Given the description of an element on the screen output the (x, y) to click on. 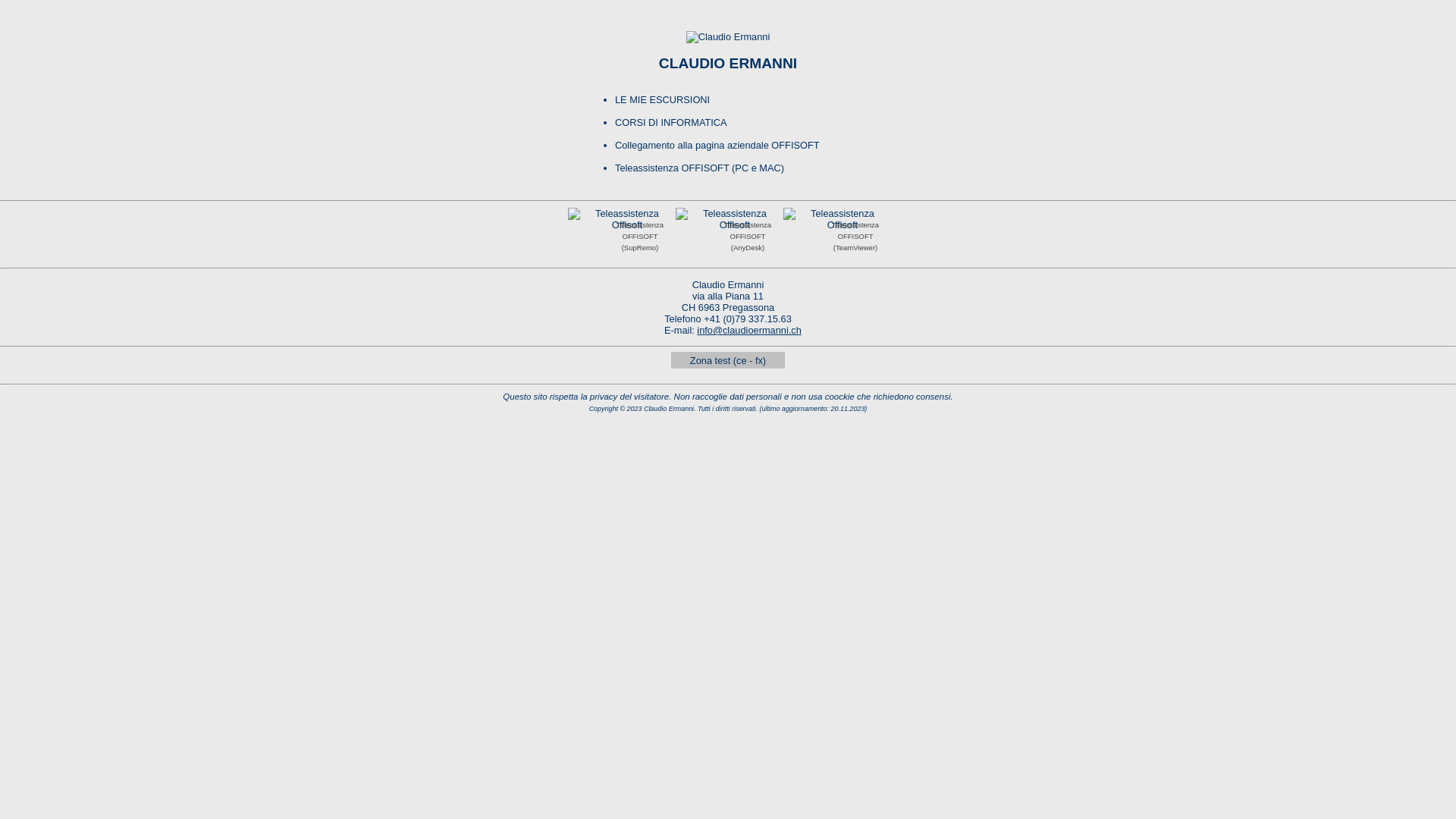
CLAUDIO ERMANNI Element type: text (727, 63)
LE MIE ESCURSIONI Element type: text (662, 99)
CORSI DI INFORMATICA Element type: text (671, 122)
Teleassistenza OFFISOFT (PC e MAC) Element type: text (699, 167)
Zona test (ce - fx) Element type: text (727, 360)
info@claudioermanni.ch Element type: text (748, 329)
Collegamento alla pagina aziendale OFFISOFT Element type: text (717, 144)
